Given the description of an element on the screen output the (x, y) to click on. 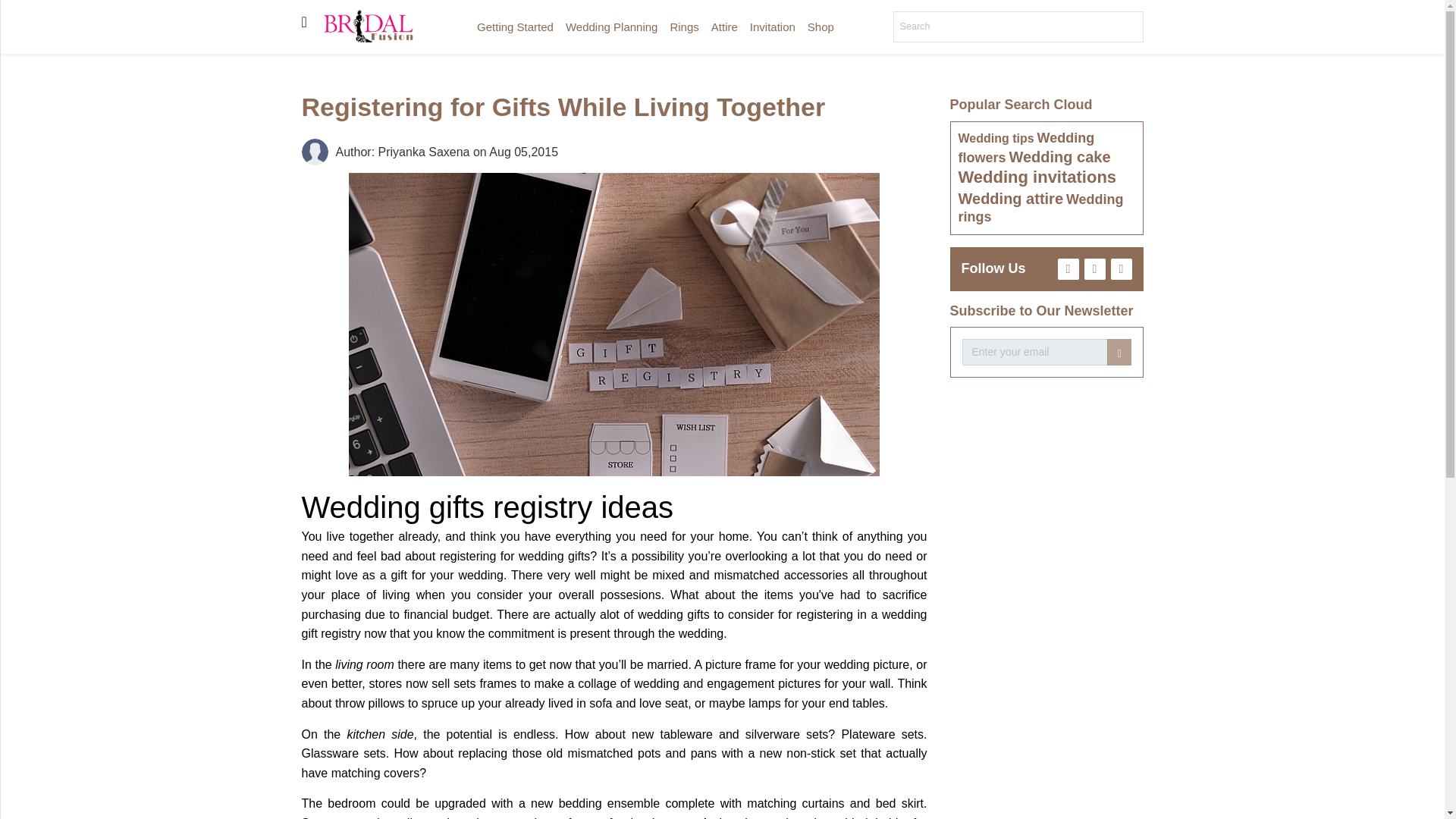
Wedding rings (1041, 207)
Gifts (15, 306)
Invitation (15, 214)
Wedding cake (1059, 156)
Getting Started (514, 26)
Home (15, 45)
Attire (15, 184)
Cake (15, 245)
Planning (15, 123)
Invitation (773, 26)
Shop (15, 336)
Shop (821, 26)
Wedding flowers (1026, 147)
Wedding attire (1011, 198)
Wedding tips (995, 137)
